Given the description of an element on the screen output the (x, y) to click on. 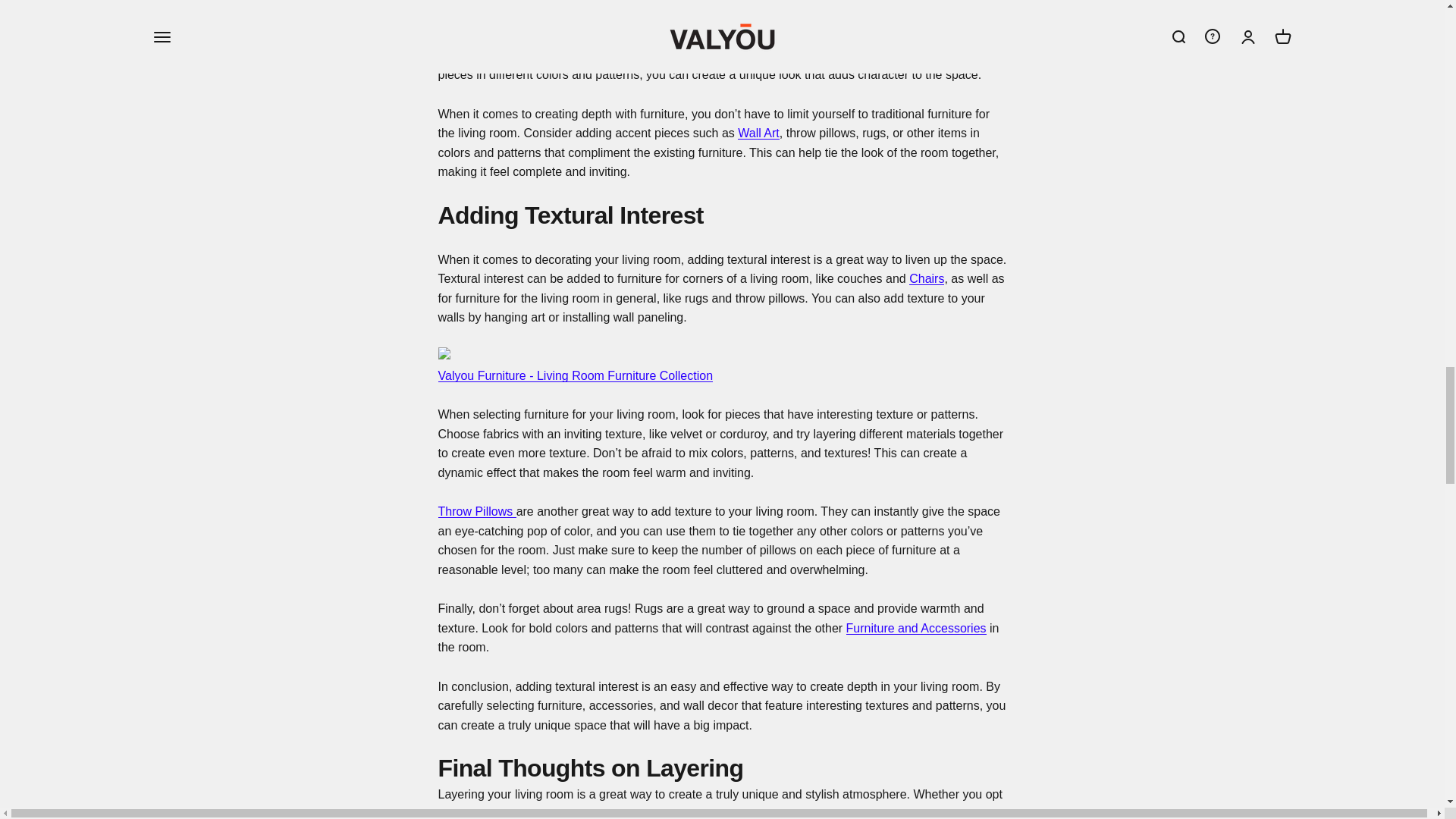
Bedroom furniture (758, 132)
Living room table (521, 2)
Bedroom furniture (481, 55)
Bedroom furniture (925, 278)
Living room furnitures (575, 375)
